Given the description of an element on the screen output the (x, y) to click on. 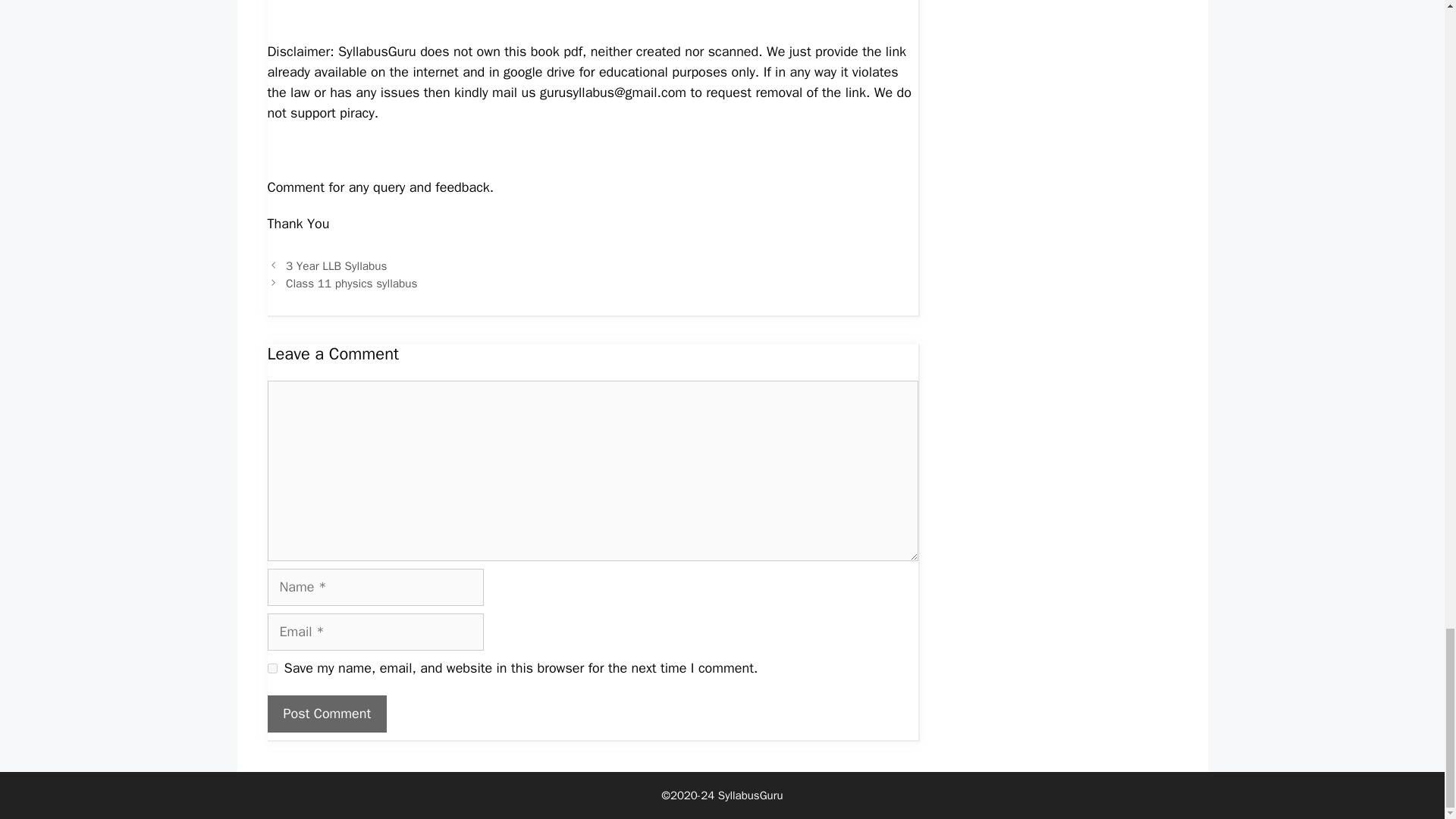
3 Year LLB Syllabus (336, 265)
yes (271, 668)
Class 11 physics syllabus (351, 283)
Post Comment (326, 713)
